Given the description of an element on the screen output the (x, y) to click on. 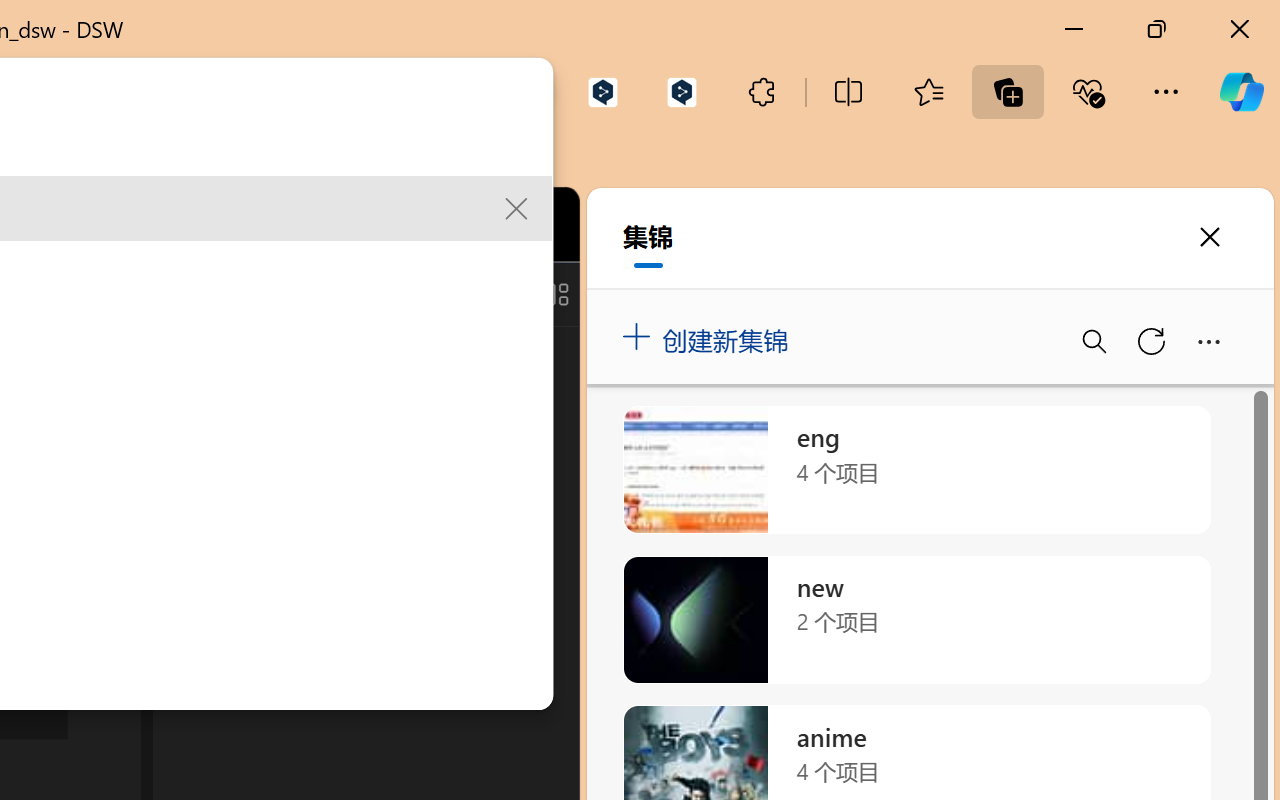
Toggle Panel (Ctrl+J) (461, 294)
icon (436, 224)
Copilot (Ctrl+Shift+.) (1241, 91)
icon (436, 220)
Toggle Primary Side Bar (Ctrl+B) (413, 294)
